Given the description of an element on the screen output the (x, y) to click on. 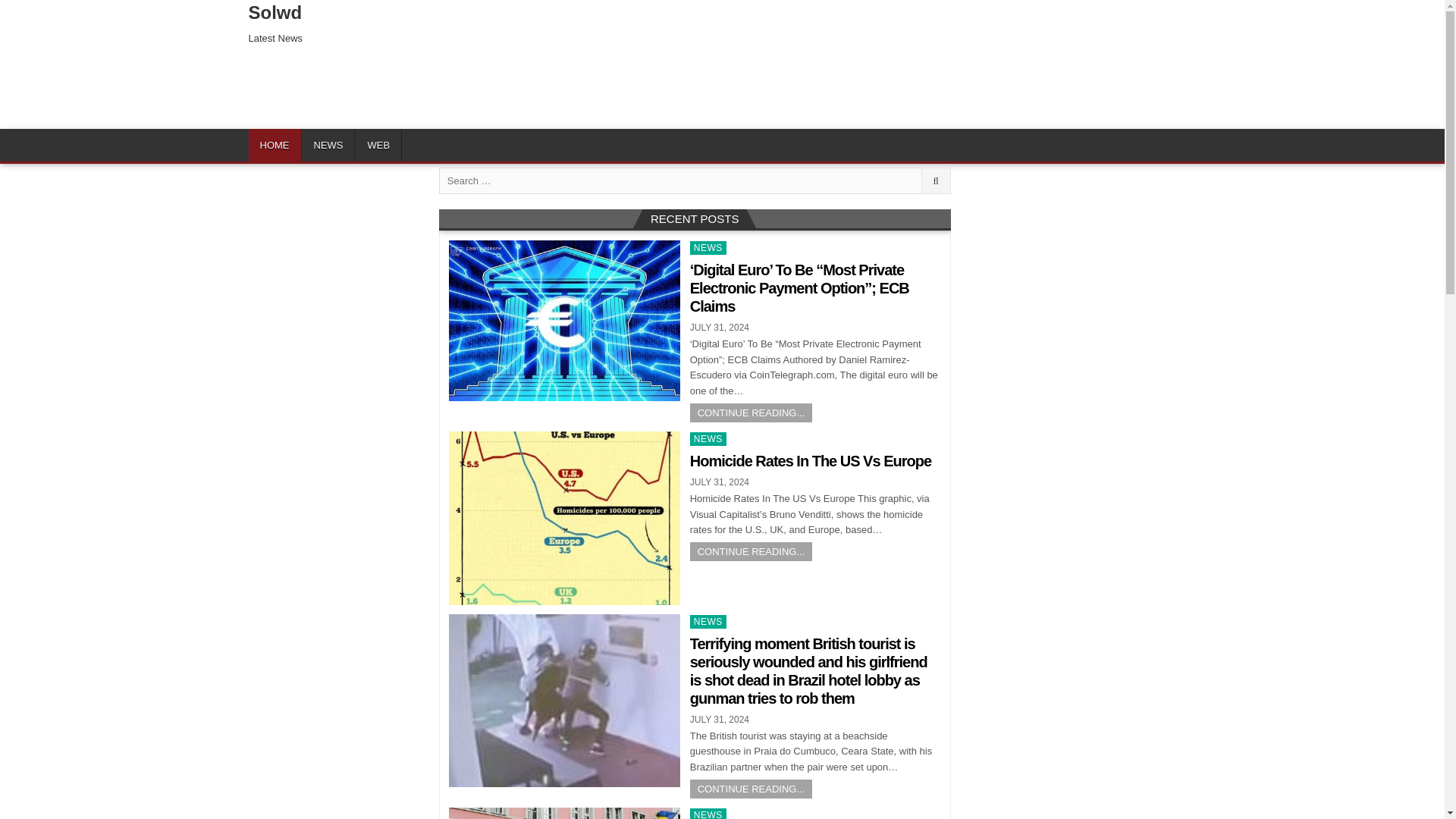
HOME (274, 144)
Solwd (275, 12)
Permanent Link to Homicide Rates In The US Vs Europe (563, 518)
NEWS (708, 247)
CONTINUE READING... (751, 788)
CONTINUE READING... (751, 551)
WEB (378, 144)
NEWS (708, 621)
